Given the description of an element on the screen output the (x, y) to click on. 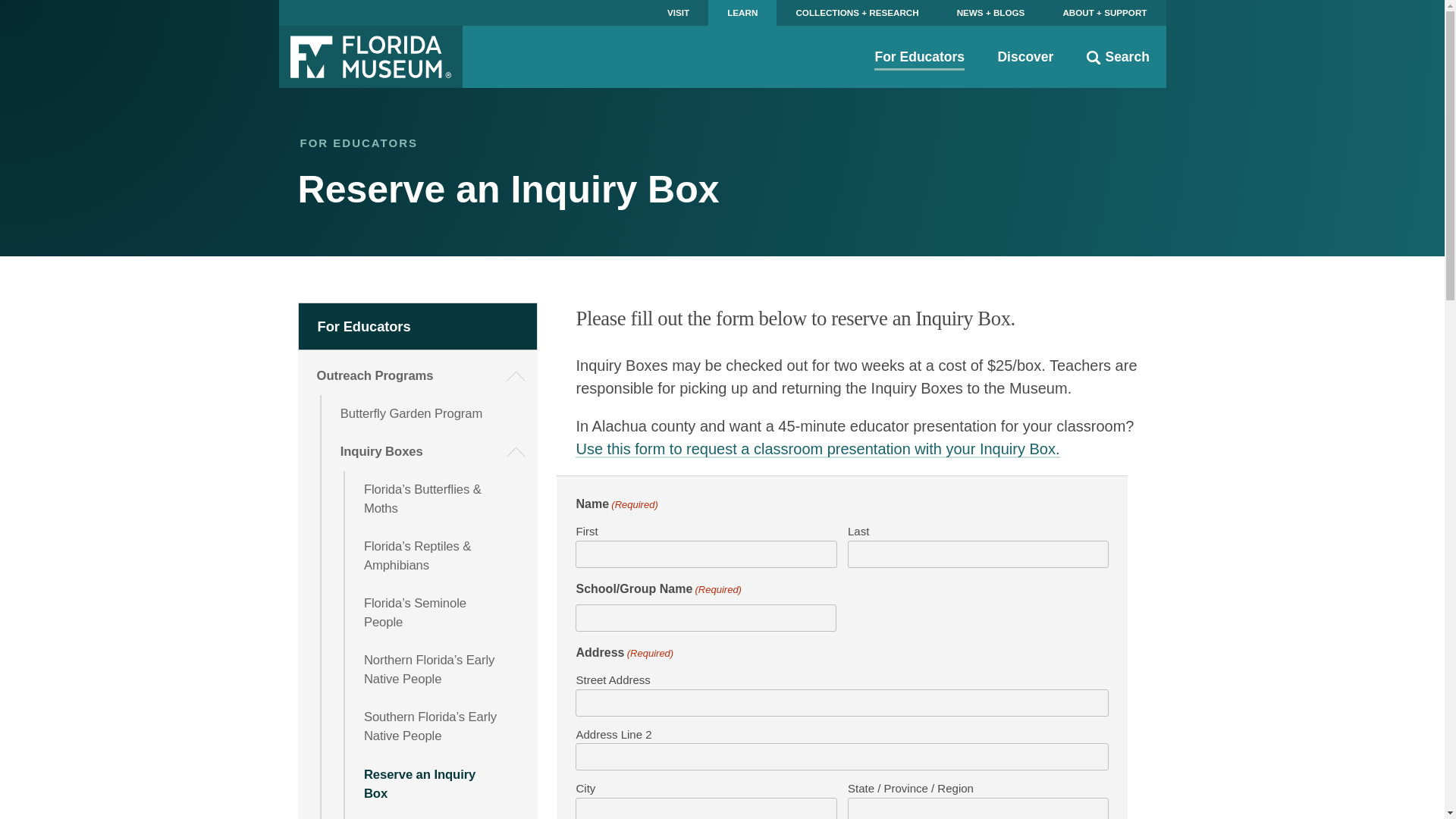
Search (1118, 56)
Butterfly Garden Program (429, 413)
Outreach Programs (418, 375)
Florida Museum (371, 56)
Inquiry Boxes (429, 451)
VISIT (677, 12)
Reserve an Inquiry Box (441, 783)
For Educators (418, 326)
LEARN (741, 12)
Request an Inquiry Box Presentation (441, 815)
